Given the description of an element on the screen output the (x, y) to click on. 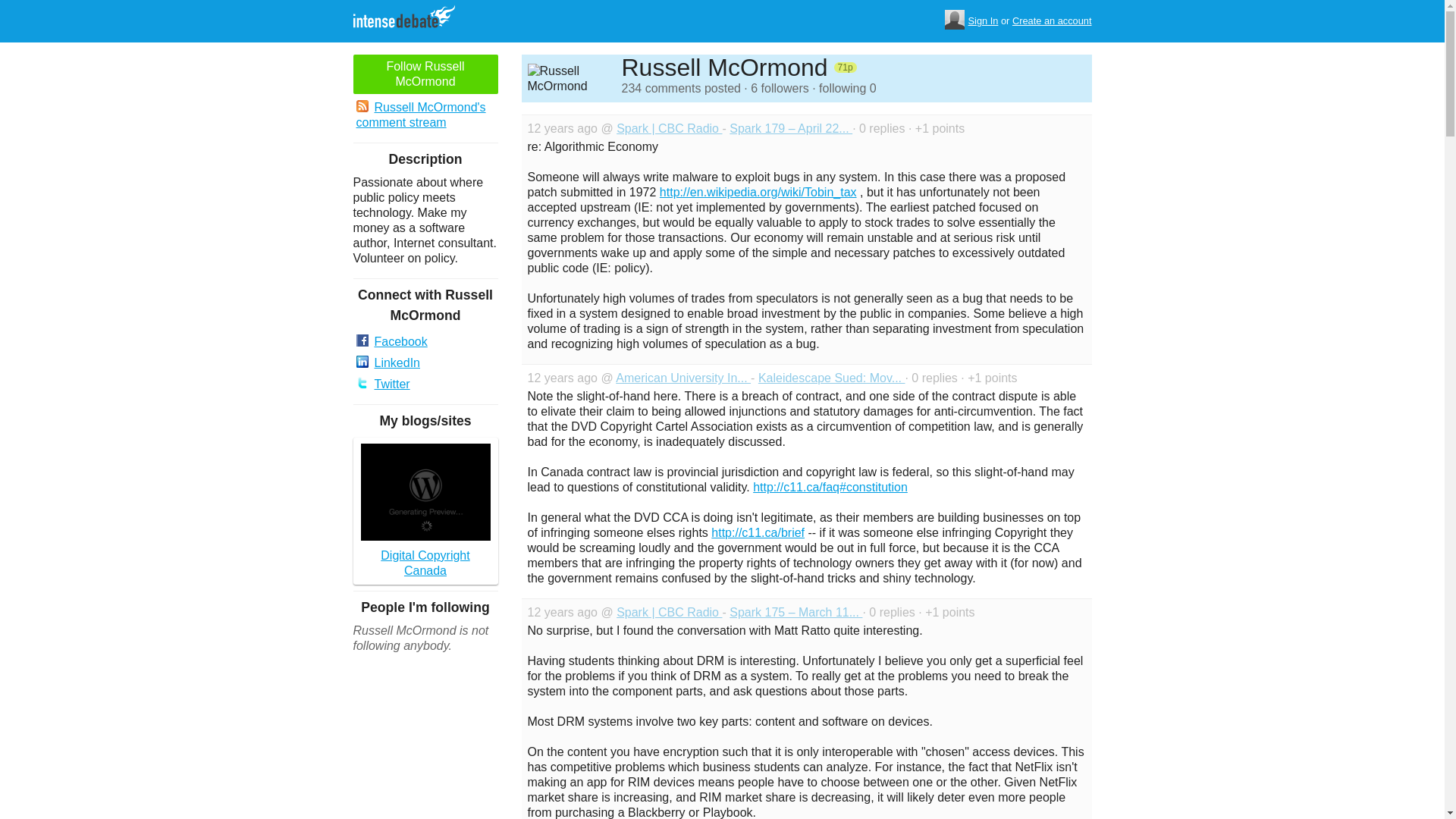
American University In... (683, 377)
Facebook (425, 341)
Follow Russell McOrmond (425, 74)
Russell McOrmond's comment stream (425, 115)
Create an account (1051, 21)
LinkedIn (425, 362)
Kaleidescape Sued: Mov... (831, 377)
Sign In (983, 21)
Digital Copyright Canada (425, 510)
